Given the description of an element on the screen output the (x, y) to click on. 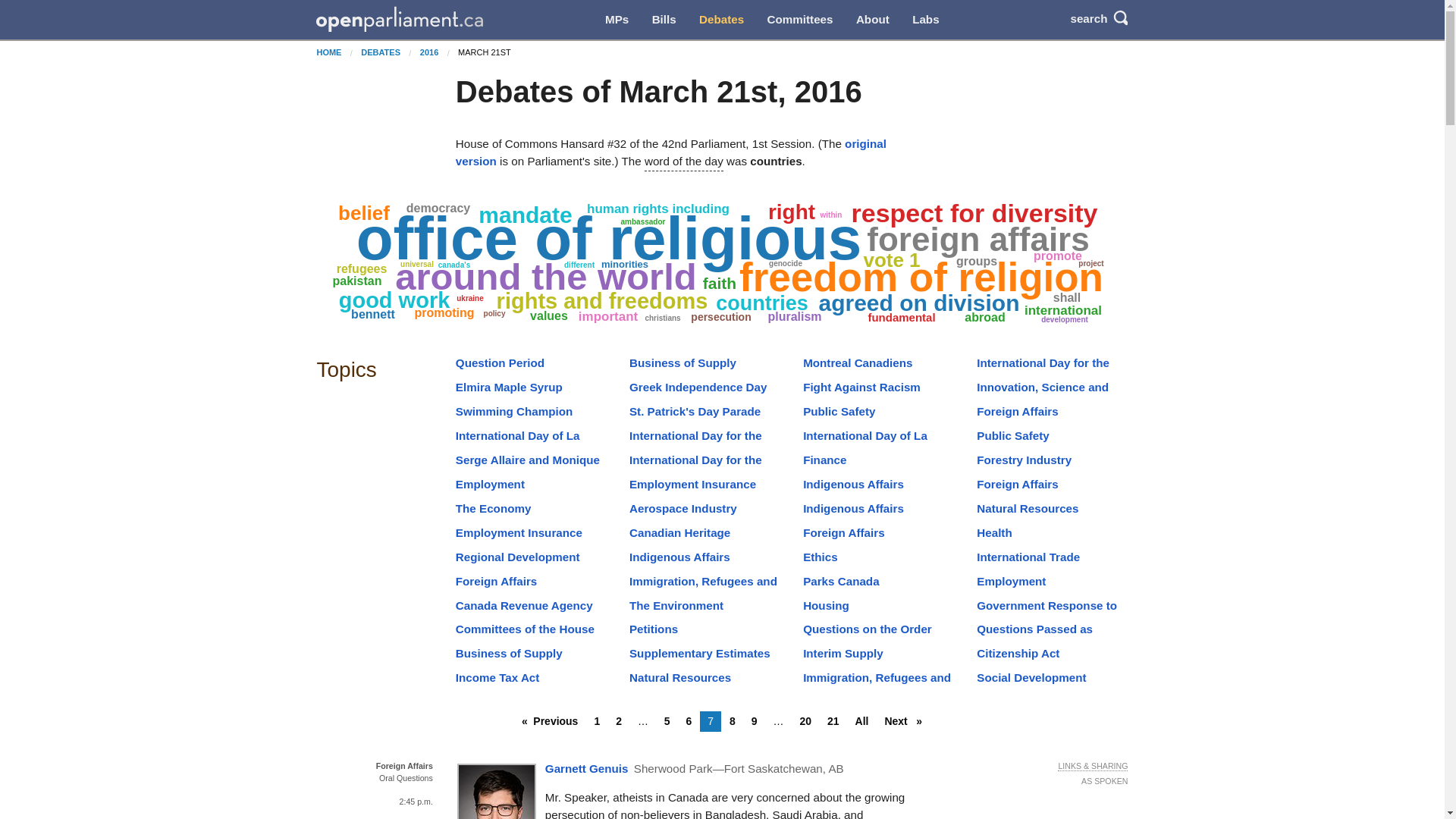
Swimming Champion (513, 410)
HOME (327, 51)
International Day of La Francophonie (517, 444)
DEBATES (380, 51)
Question Period (499, 362)
Greek Independence Day (697, 386)
Montreal Canadiens (857, 362)
International Day of La Francophonie (865, 444)
Committees (799, 19)
Business of Supply (682, 362)
Labs (925, 19)
2016 (429, 51)
Employment Insurance (691, 483)
